Given the description of an element on the screen output the (x, y) to click on. 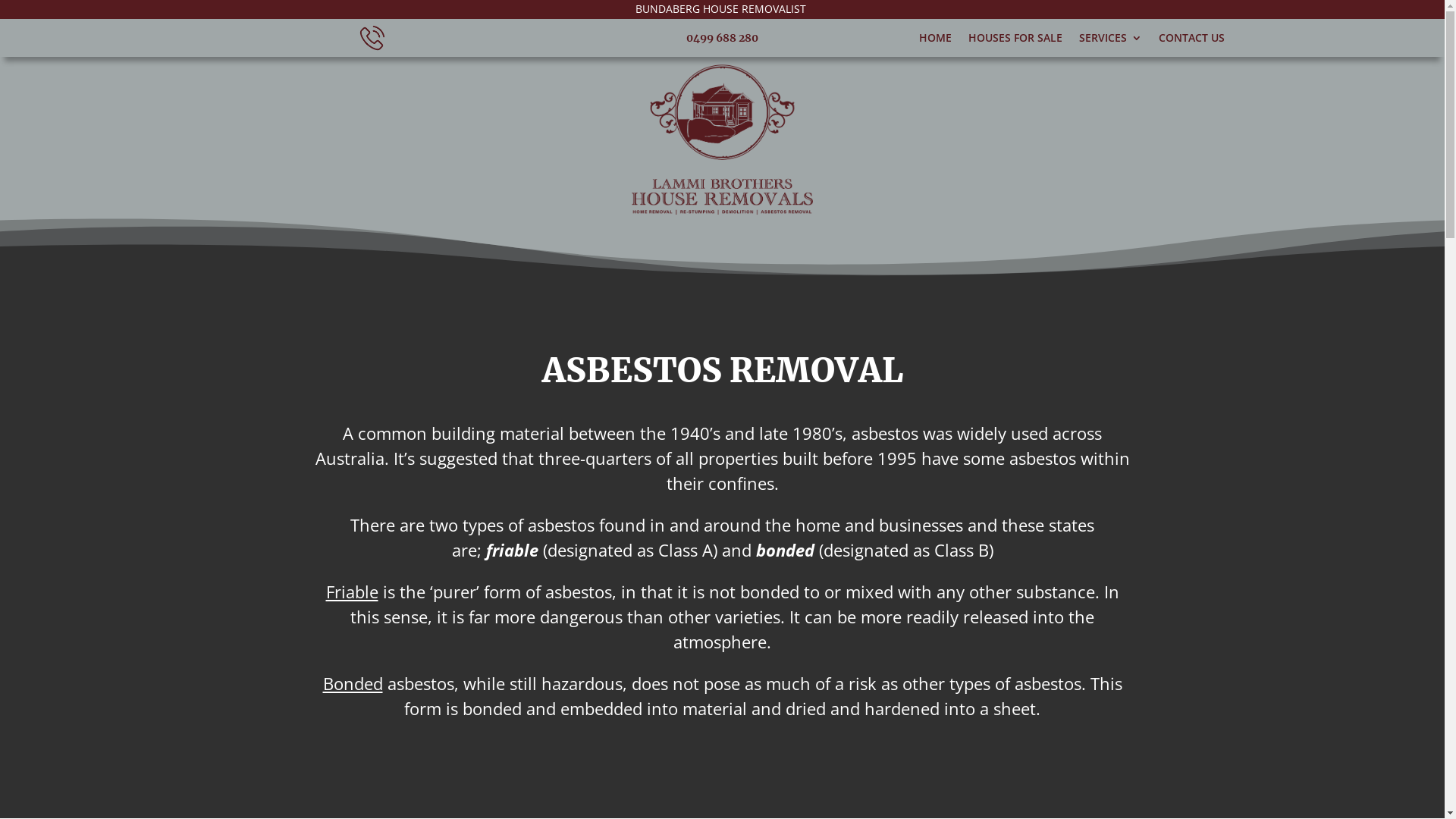
phone Element type: hover (372, 37)
Lammi Brothers Logo Element type: hover (722, 139)
HOME Element type: text (935, 40)
HOUSES FOR SALE Element type: text (1015, 40)
CONTACT US Element type: text (1191, 40)
SERVICES Element type: text (1110, 40)
